Given the description of an element on the screen output the (x, y) to click on. 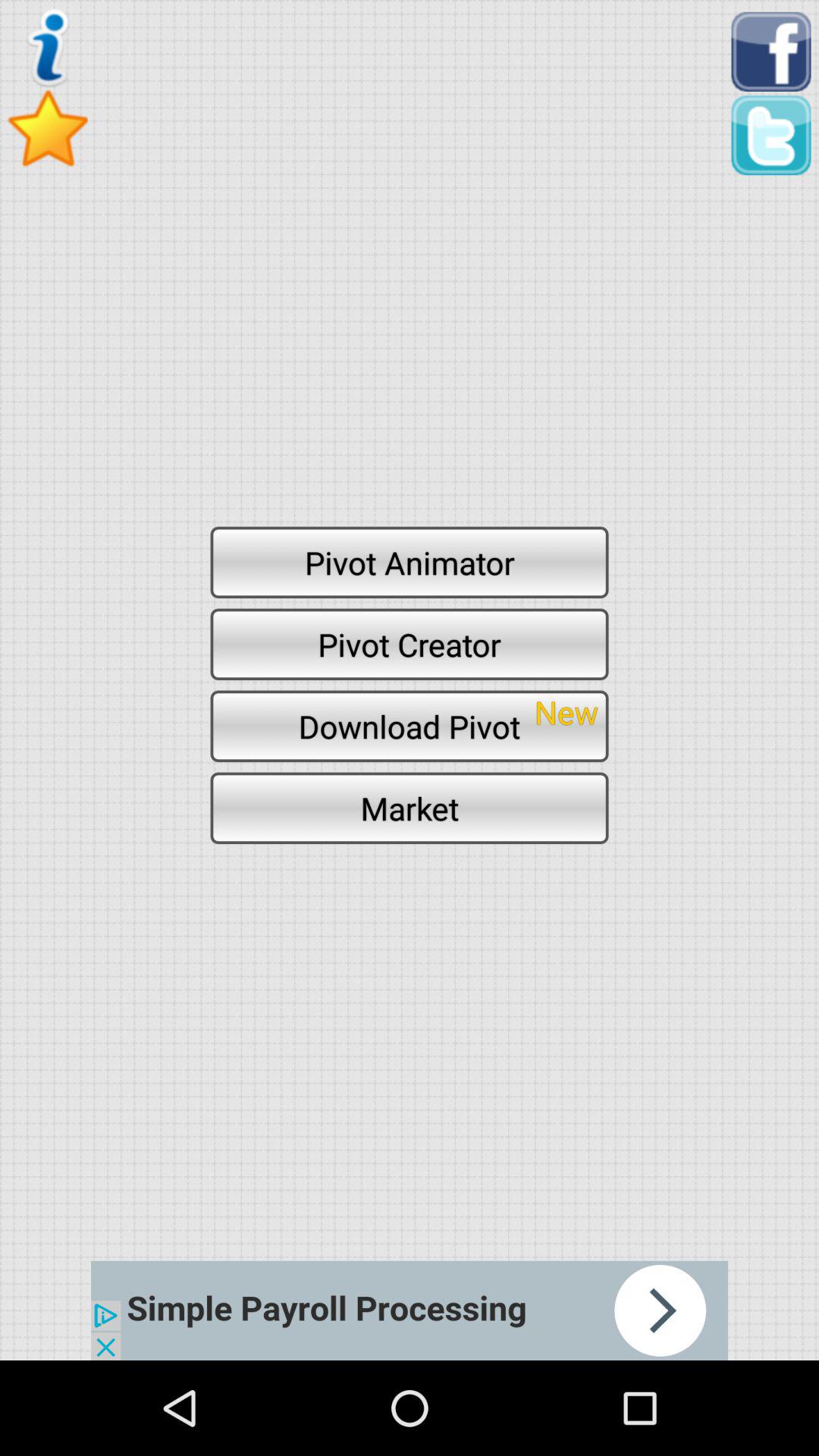
swipe to the market (409, 808)
